Given the description of an element on the screen output the (x, y) to click on. 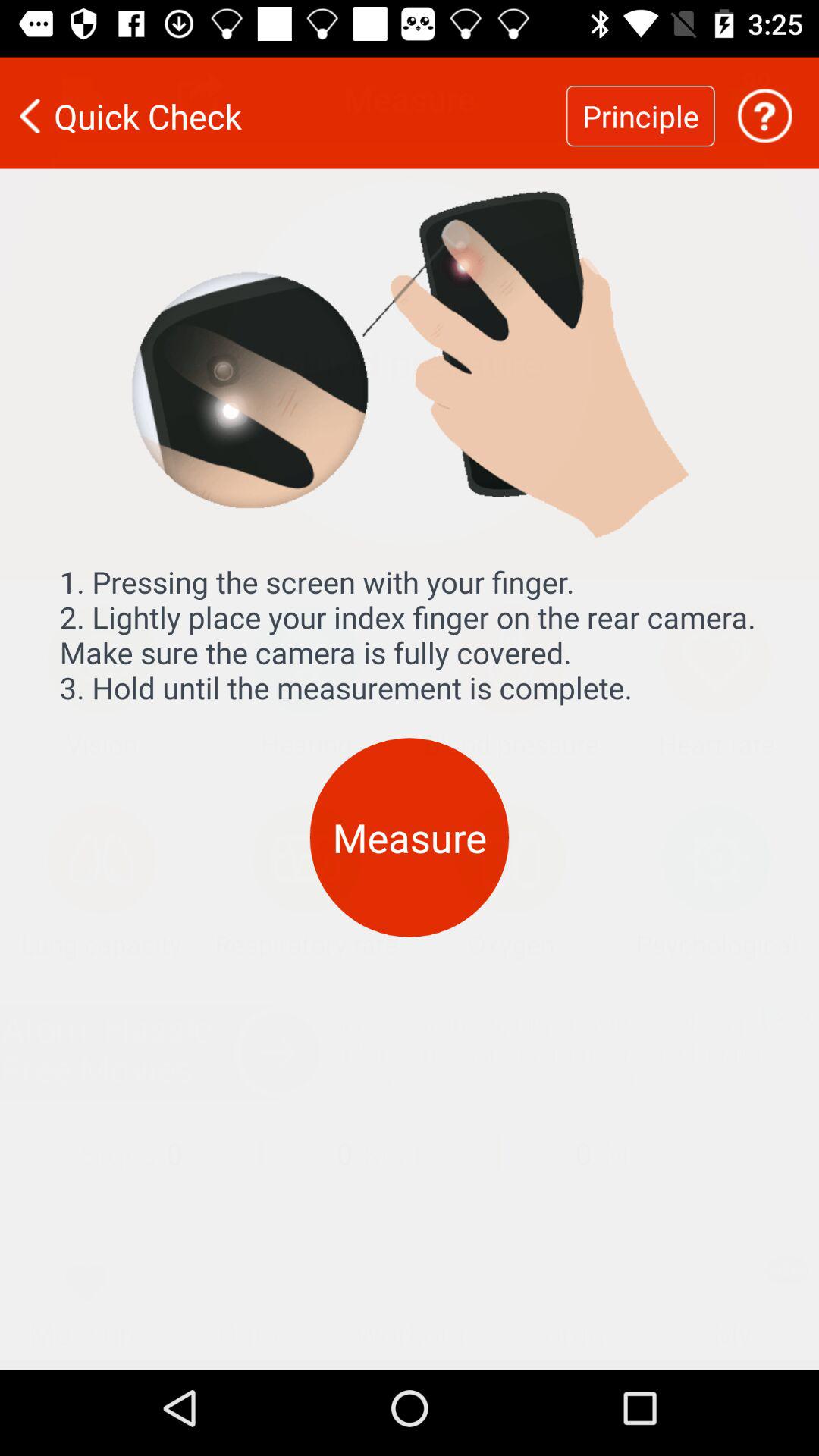
help option (764, 106)
